Given the description of an element on the screen output the (x, y) to click on. 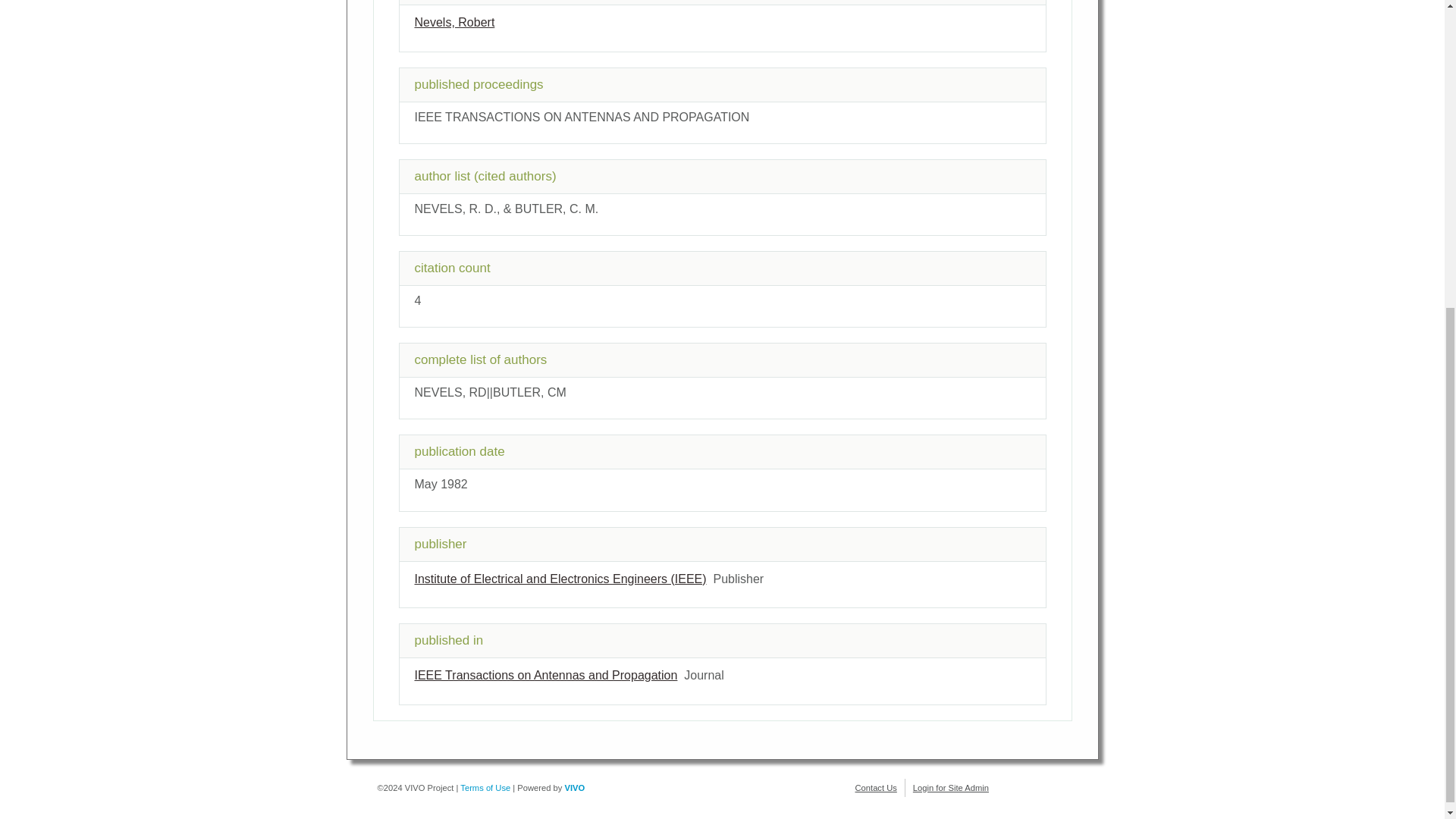
author name (454, 21)
Nevels, Robert (454, 21)
VIVO (574, 787)
name (545, 675)
IEEE Transactions on Antennas and Propagation (545, 675)
Login for Site Admin (950, 787)
name (559, 578)
Contact Us (876, 787)
Terms of Use (485, 787)
